Given the description of an element on the screen output the (x, y) to click on. 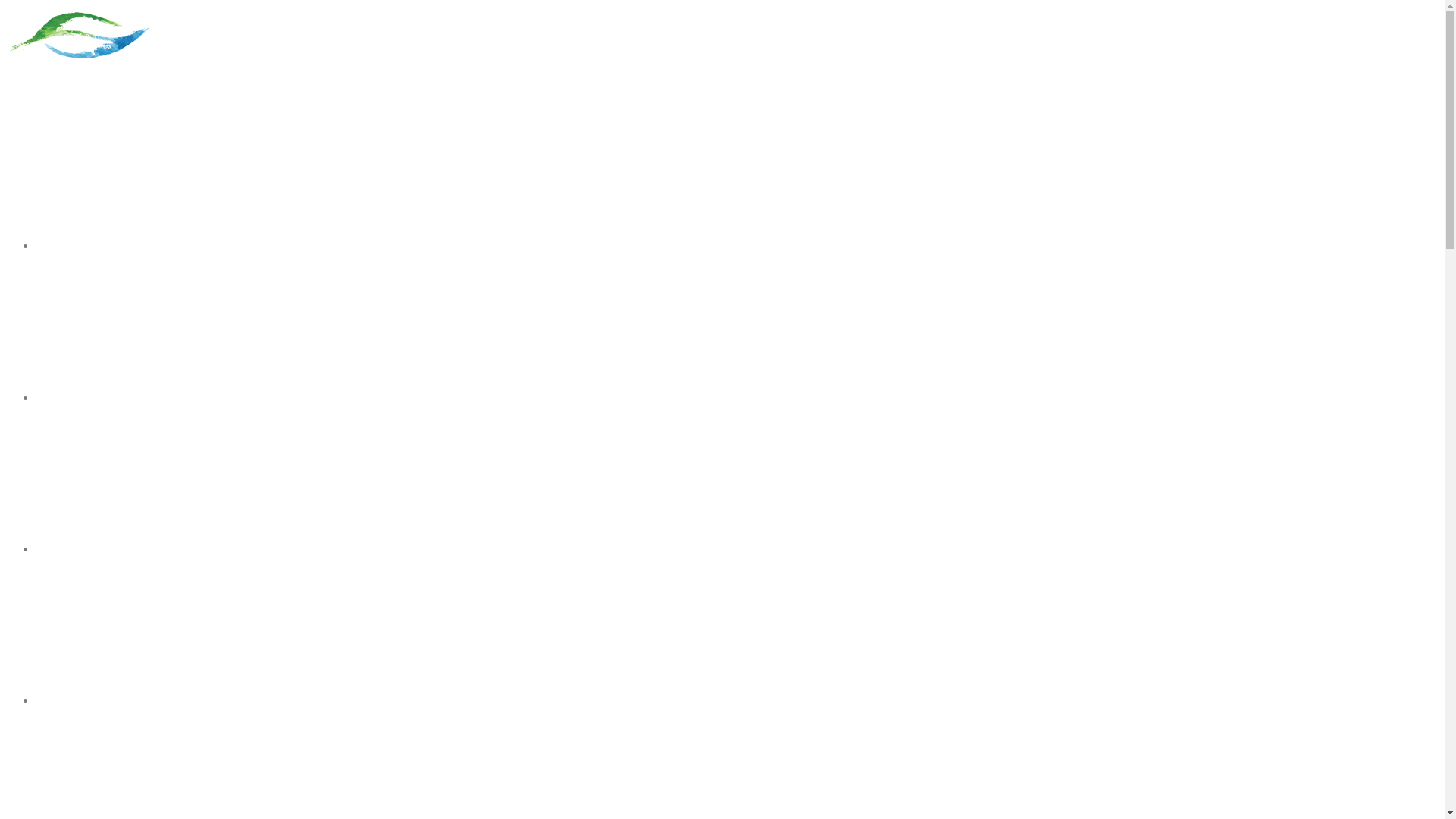
Home Element type: text (55, 245)
About Element type: text (55, 396)
Connect Element type: text (62, 548)
Calendar Element type: text (65, 700)
